Given the description of an element on the screen output the (x, y) to click on. 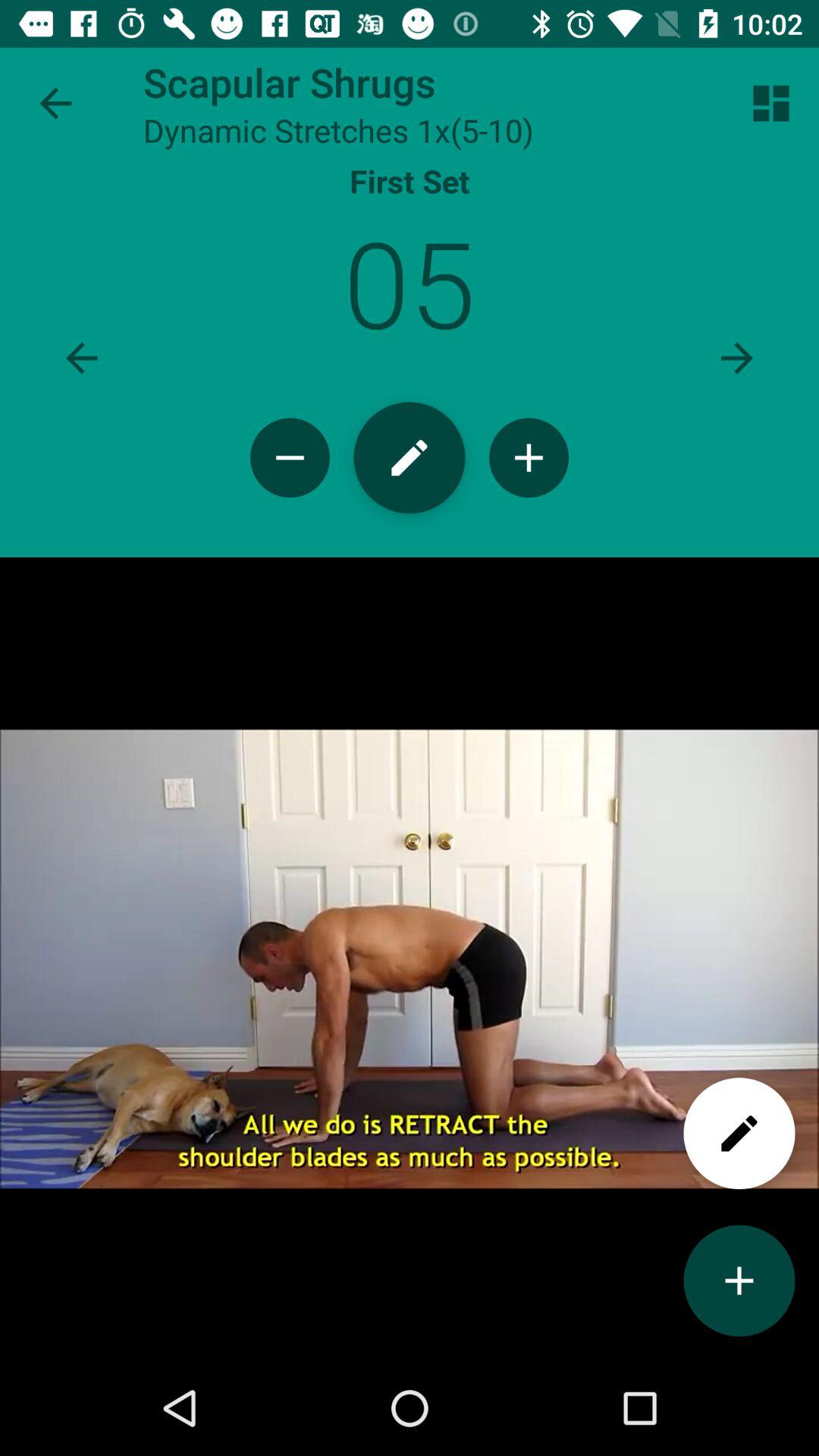
go to option (81, 358)
